Given the description of an element on the screen output the (x, y) to click on. 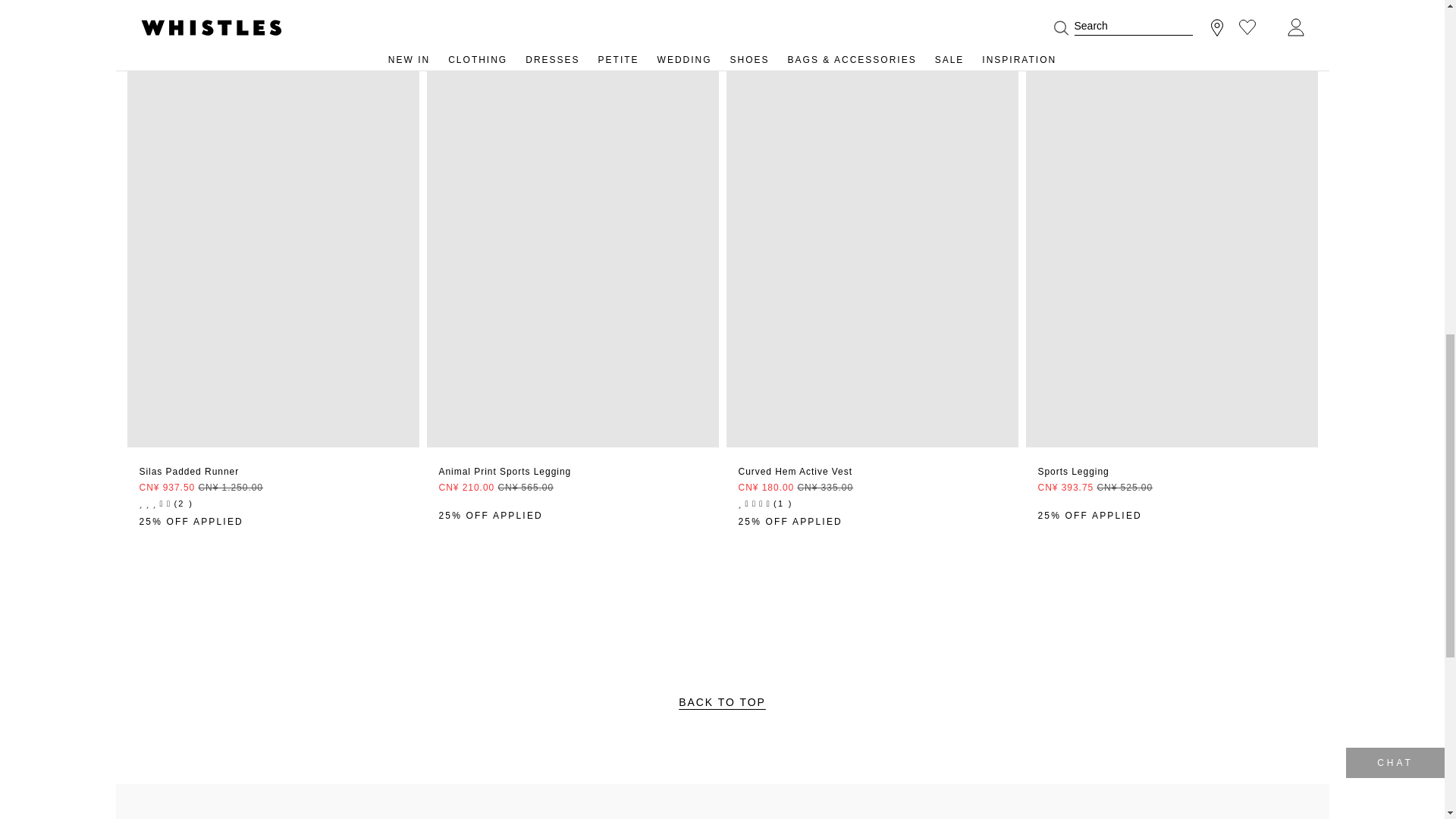
Add to Bag (1170, 473)
Sports Legging (1171, 51)
Add to Bag (273, 473)
Animal Print Sports Legging (571, 51)
Curved Hem Active Vest (871, 51)
Add to Bag (571, 473)
Silas Padded Runner (273, 51)
Add to Bag (871, 473)
